Given the description of an element on the screen output the (x, y) to click on. 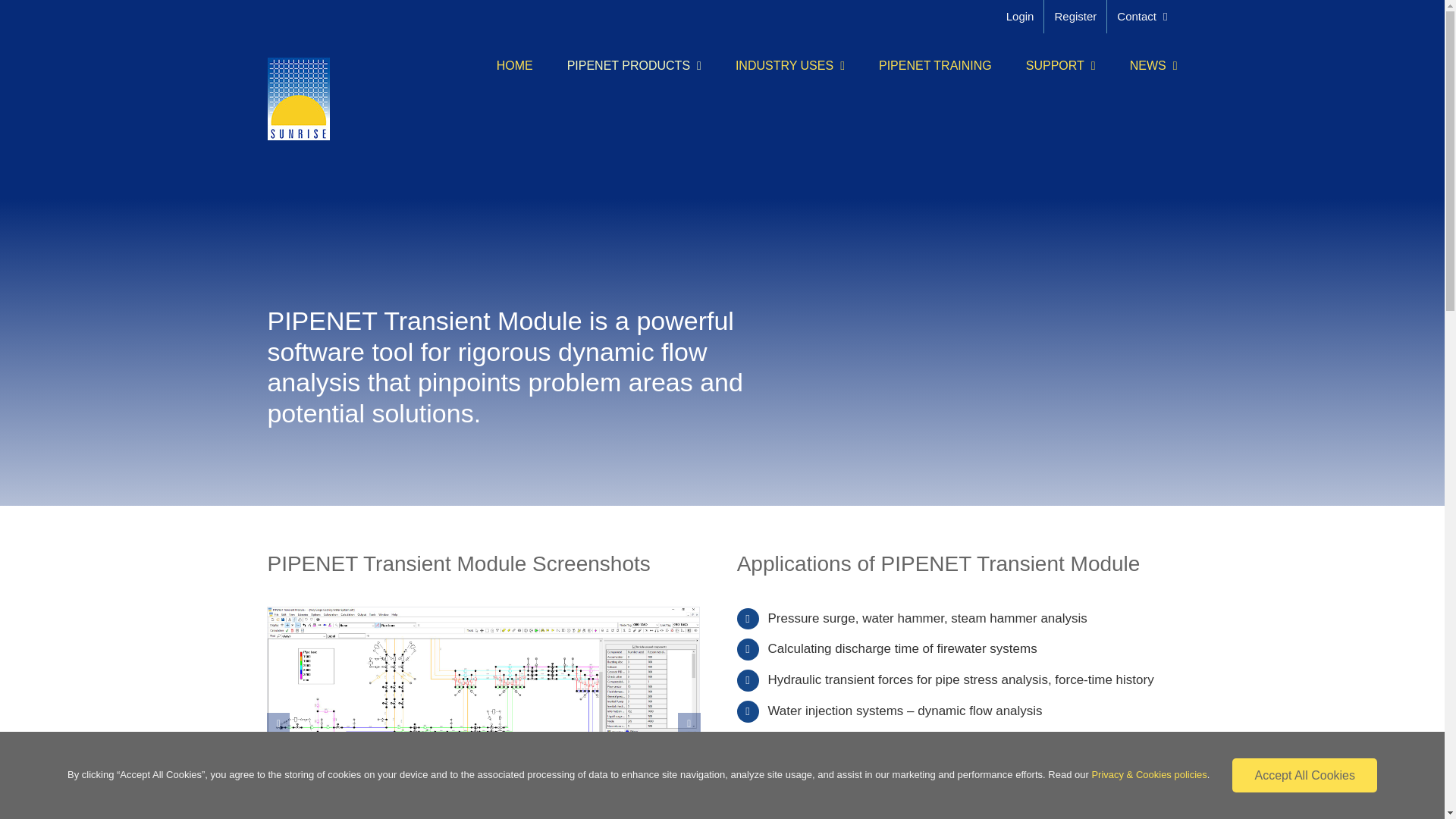
PIPENET TRAINING (935, 65)
Login (1019, 16)
Contact (1141, 16)
INDUSTRY USES (789, 65)
Register (1074, 16)
SUPPORT (1061, 65)
PIPENET PRODUCTS (634, 65)
